Given the description of an element on the screen output the (x, y) to click on. 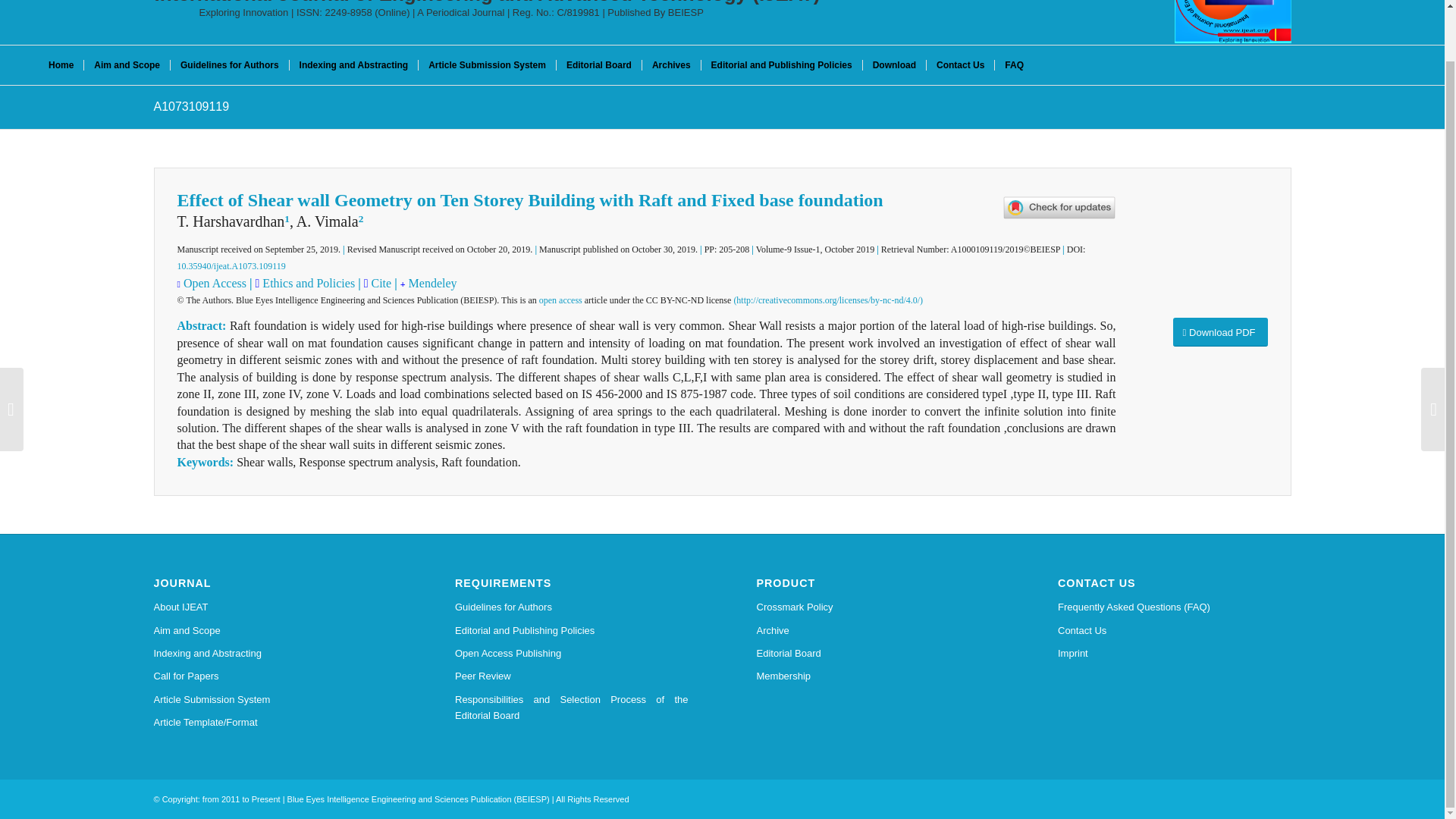
Guidelines for Authors (571, 607)
Home (60, 64)
IJEAT-logo-W (1232, 21)
Guidelines for Authors (229, 64)
FAQ (1013, 64)
Article Submission System (269, 699)
About IJEAT (269, 607)
Aim and Scope (126, 64)
Call for Papers (269, 676)
Editorial and Publishing Policies (571, 630)
